Given the description of an element on the screen output the (x, y) to click on. 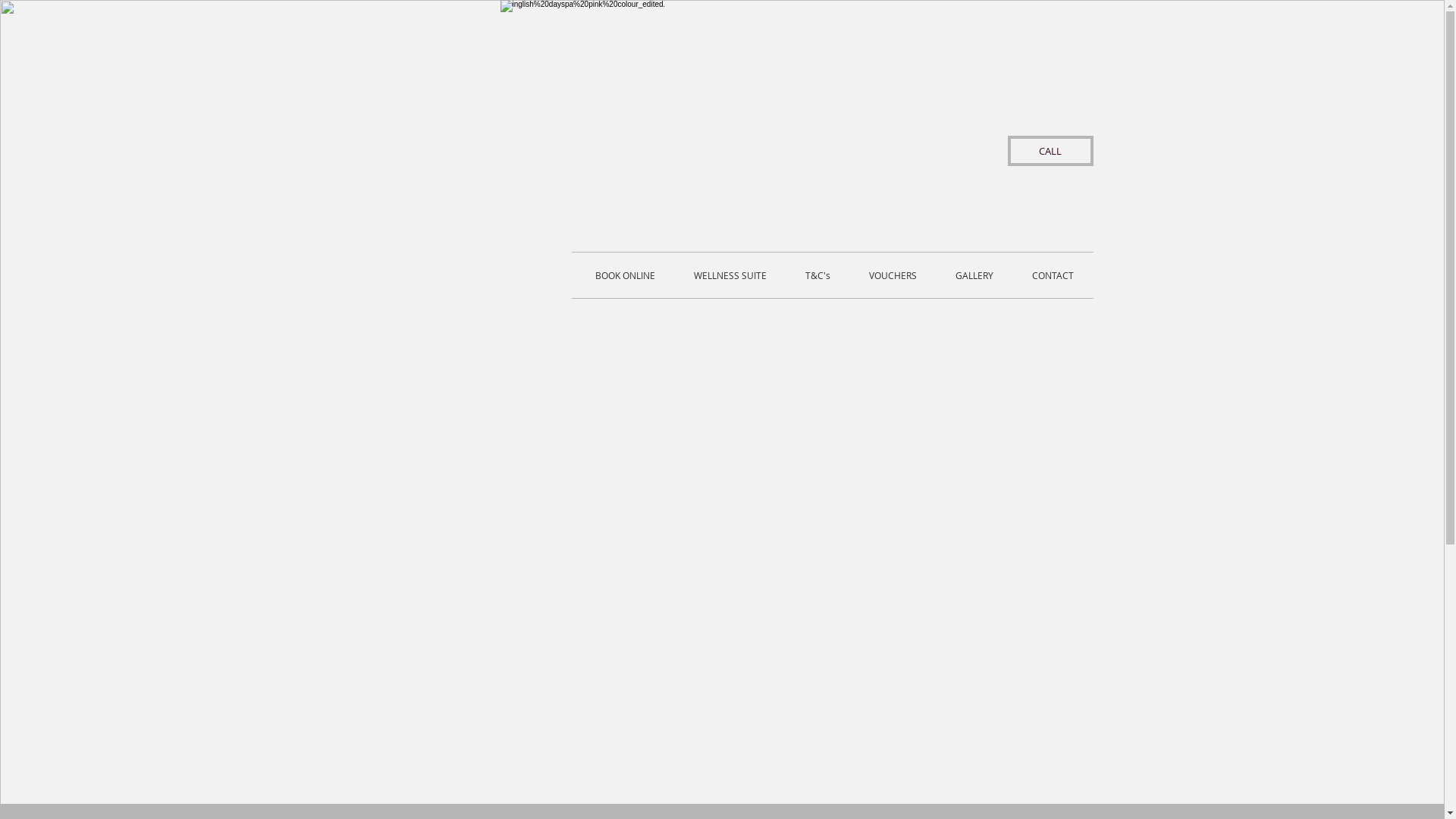
ABOUT US Element type: text (398, 275)
BOOK ONLINE Element type: text (624, 275)
Blog Likes Element type: hover (827, 575)
MENU Element type: text (474, 275)
GALLERY Element type: text (973, 275)
CALL Element type: text (1049, 150)
WELLNESS SUITE Element type: text (730, 275)
VOUCHERS Element type: text (892, 275)
STORE Element type: text (541, 275)
CONTACT Element type: text (1053, 275)
T&C's Element type: text (817, 275)
